Given the description of an element on the screen output the (x, y) to click on. 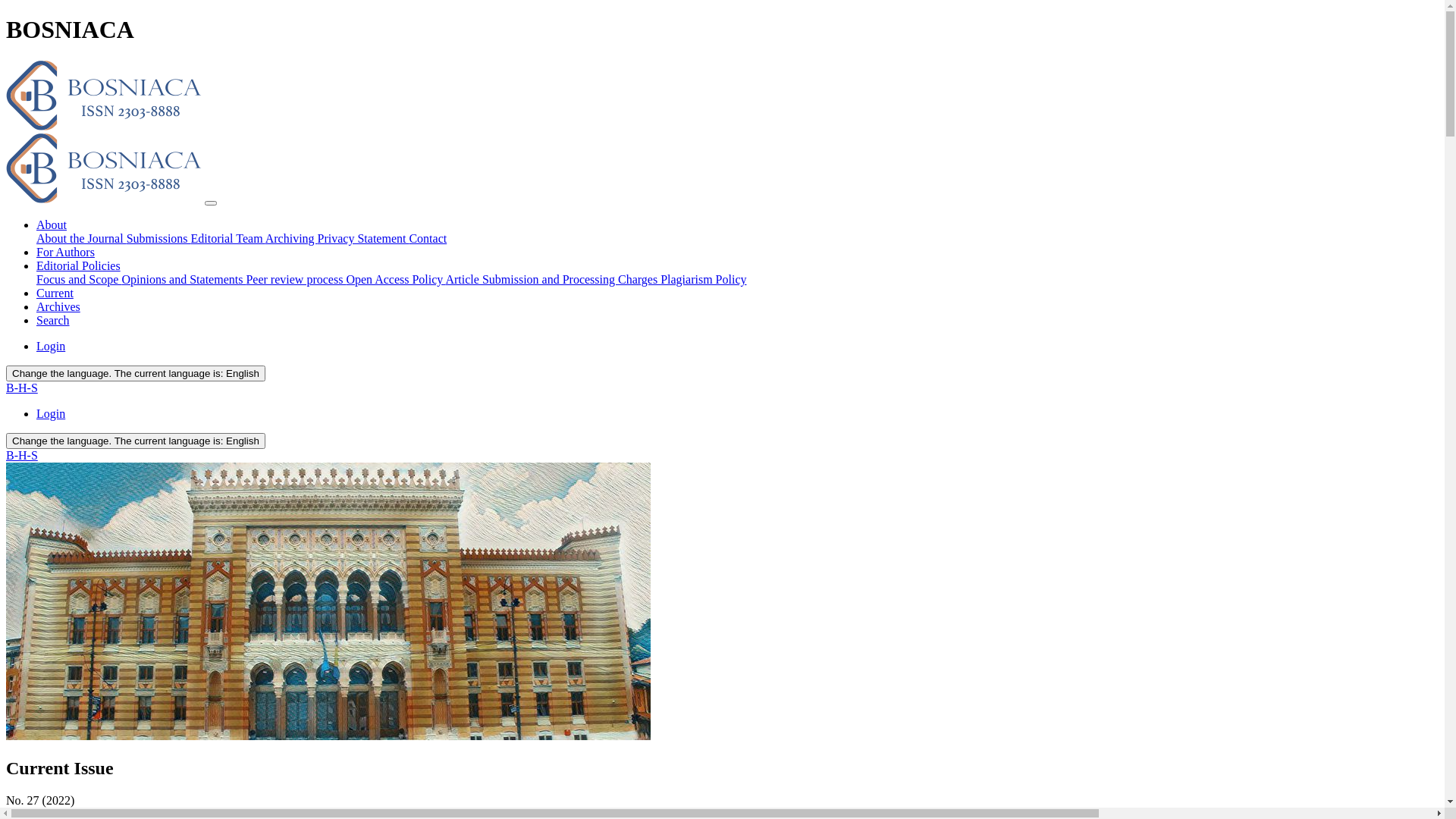
Focus and Scope Element type: text (78, 279)
Open Access Policy Element type: text (395, 279)
Current Element type: text (54, 292)
Contact Element type: text (427, 238)
For Authors Element type: text (65, 251)
Login Element type: text (50, 345)
About the Journal Element type: text (81, 238)
Editorial Policies Element type: text (78, 265)
Archiving Element type: text (291, 238)
Opinions and Statements Element type: text (183, 279)
Search Element type: text (52, 319)
Archives Element type: text (58, 306)
Login Element type: text (50, 413)
B-H-S Element type: text (21, 454)
Article Submission and Processing Charges Element type: text (552, 279)
Change the language. The current language is: English Element type: text (135, 440)
About Element type: text (51, 224)
Submissions Element type: text (158, 238)
Change the language. The current language is: English Element type: text (135, 373)
Editorial Team Element type: text (228, 238)
Plagiarism Policy Element type: text (703, 279)
Peer review process Element type: text (295, 279)
Privacy Statement Element type: text (363, 238)
B-H-S Element type: text (21, 387)
